Given the description of an element on the screen output the (x, y) to click on. 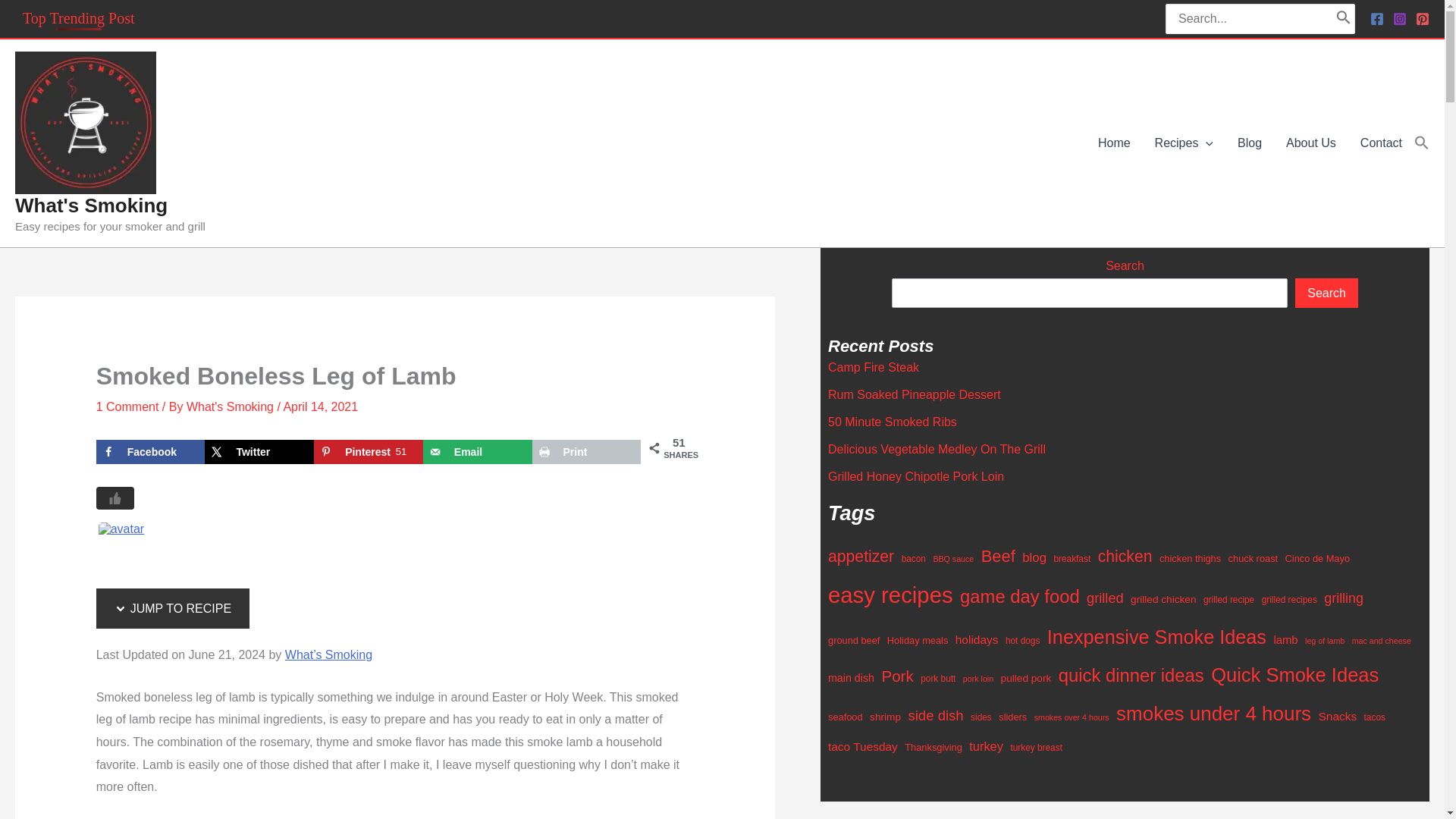
Home (1114, 143)
Share on Facebook (150, 451)
View all posts by What's Smoking (229, 406)
Recipes (1183, 143)
Share on X (259, 451)
About Us (1311, 143)
What's Smoking (90, 205)
Save to Pinterest (368, 451)
Print this webpage (587, 451)
What's Smoking (123, 546)
Contact (1380, 143)
Send over email (477, 451)
